Given the description of an element on the screen output the (x, y) to click on. 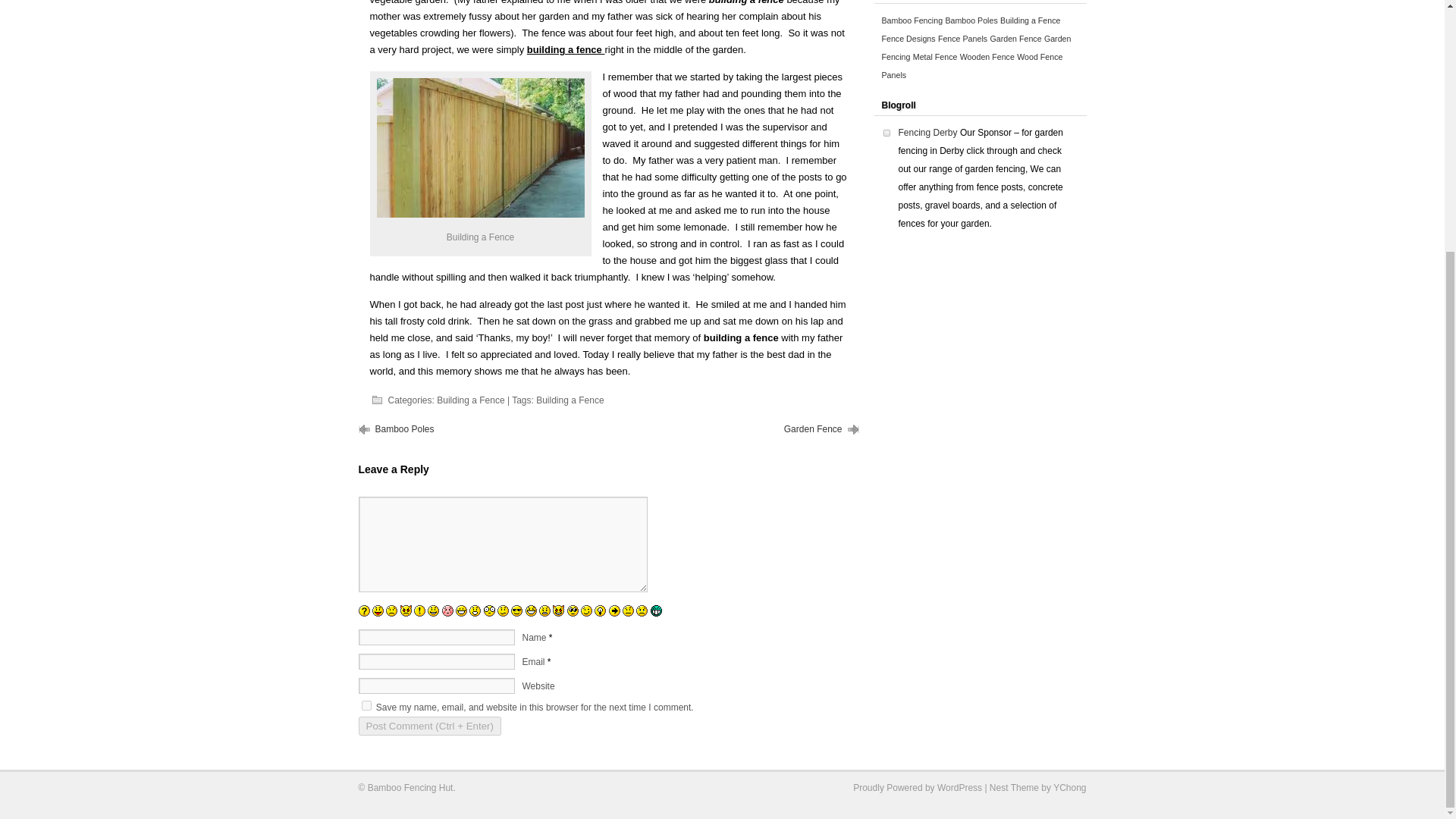
Building a Fence (479, 147)
confused (502, 610)
Bamboo Poles (403, 429)
razz (378, 610)
Building a Fence (569, 399)
yes (366, 705)
surprised (474, 610)
smile (433, 610)
biggrin (461, 610)
exclaim (419, 610)
question (363, 610)
evil (406, 610)
redface (447, 610)
Garden Fence (813, 429)
eek (489, 610)
